Given the description of an element on the screen output the (x, y) to click on. 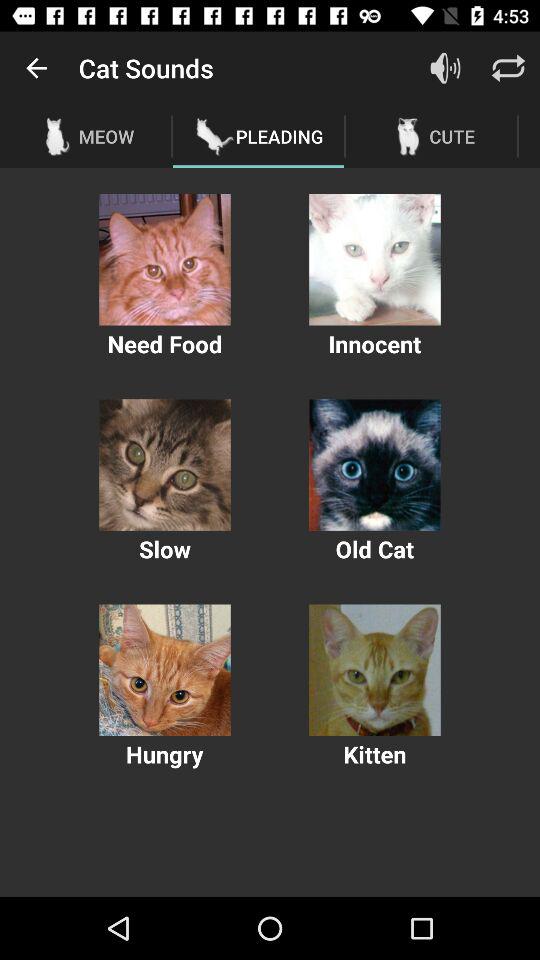
launch the item above cute icon (508, 67)
